Given the description of an element on the screen output the (x, y) to click on. 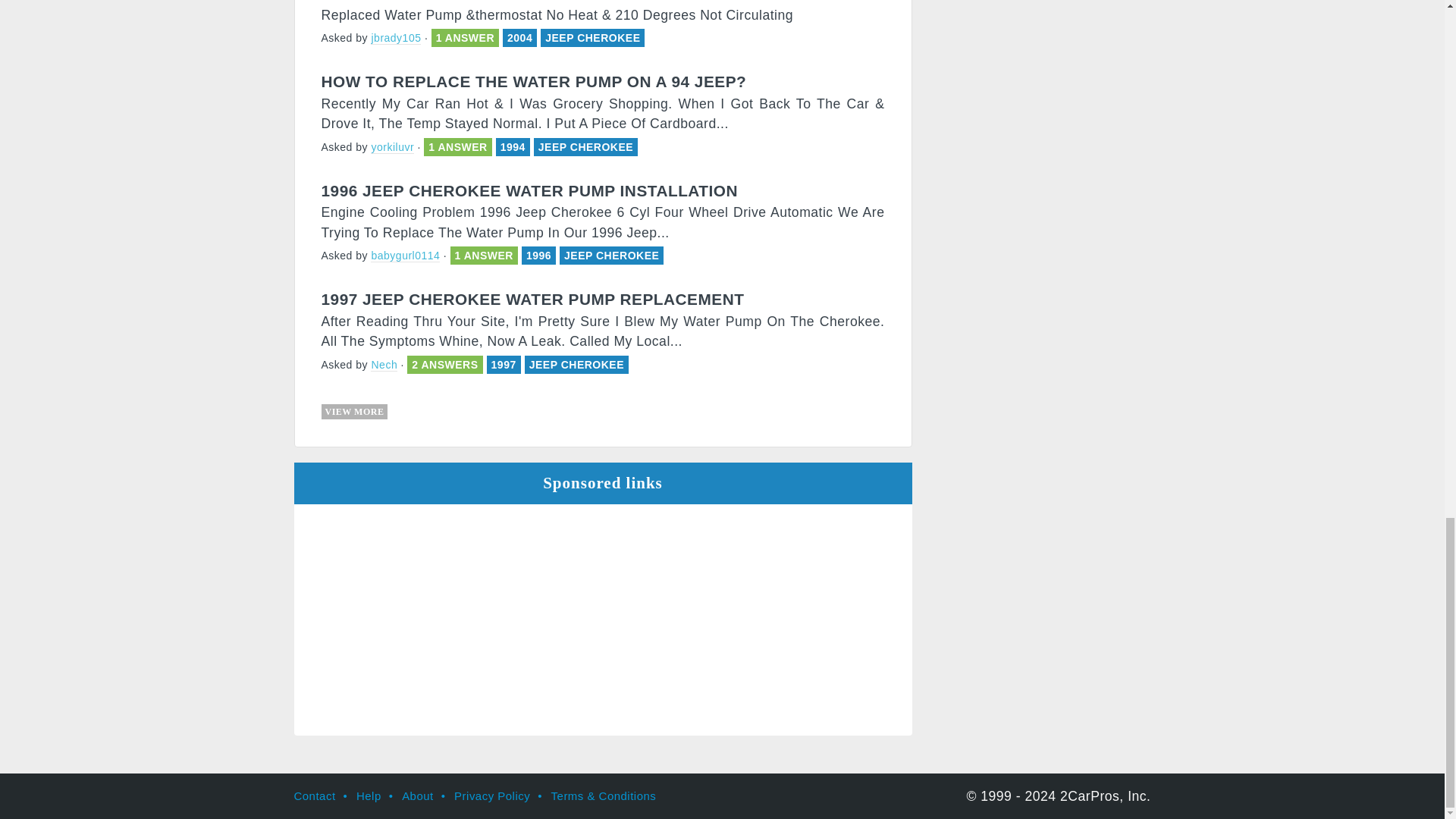
JEEP CHEROKEE (611, 255)
JEEP CHEROKEE (592, 37)
yorkiluvr (392, 146)
jbrady105 (395, 38)
JEEP CHEROKEE (585, 146)
babygurl0114 (405, 255)
